Given the description of an element on the screen output the (x, y) to click on. 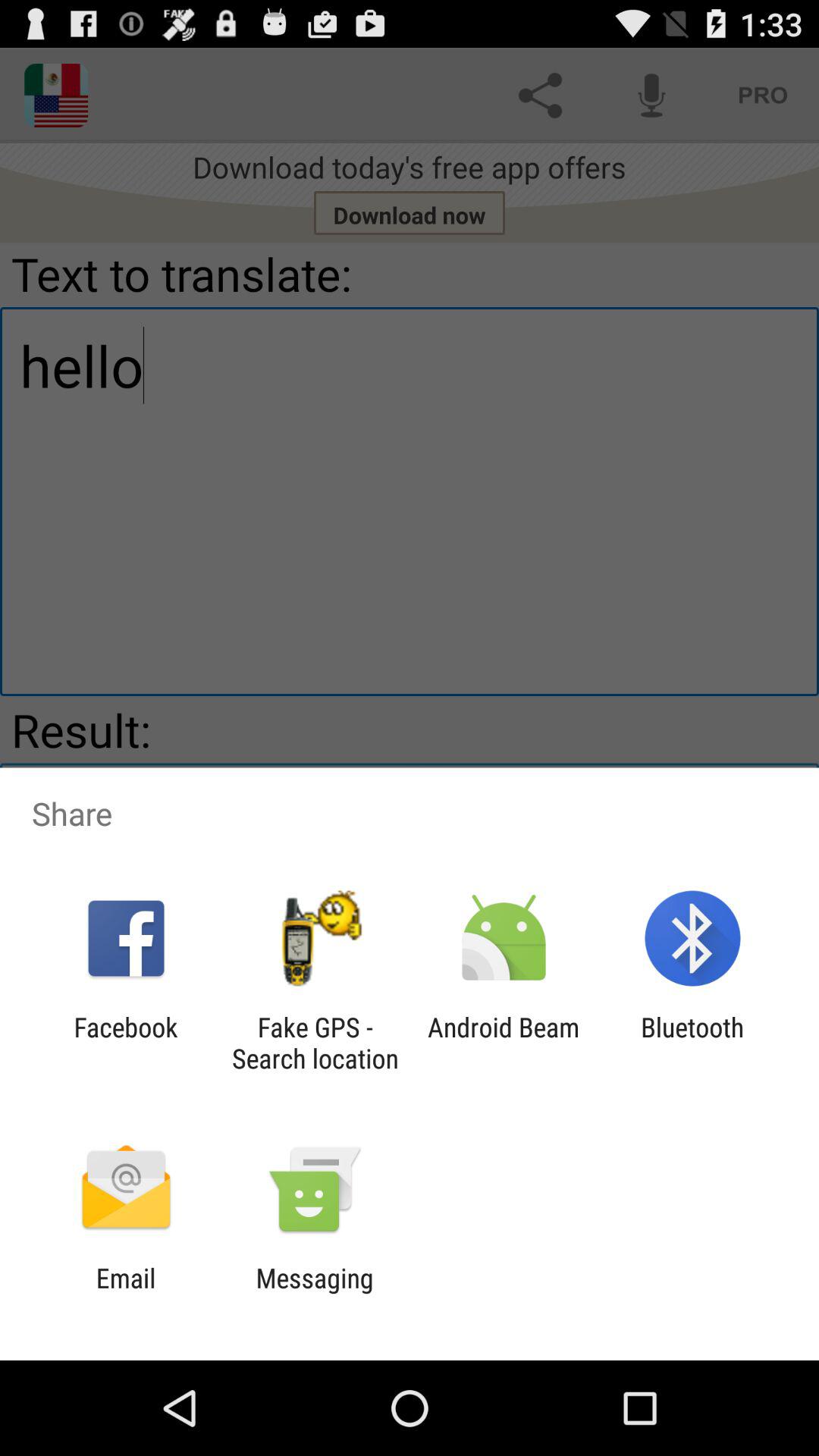
click the app to the left of messaging icon (125, 1293)
